Given the description of an element on the screen output the (x, y) to click on. 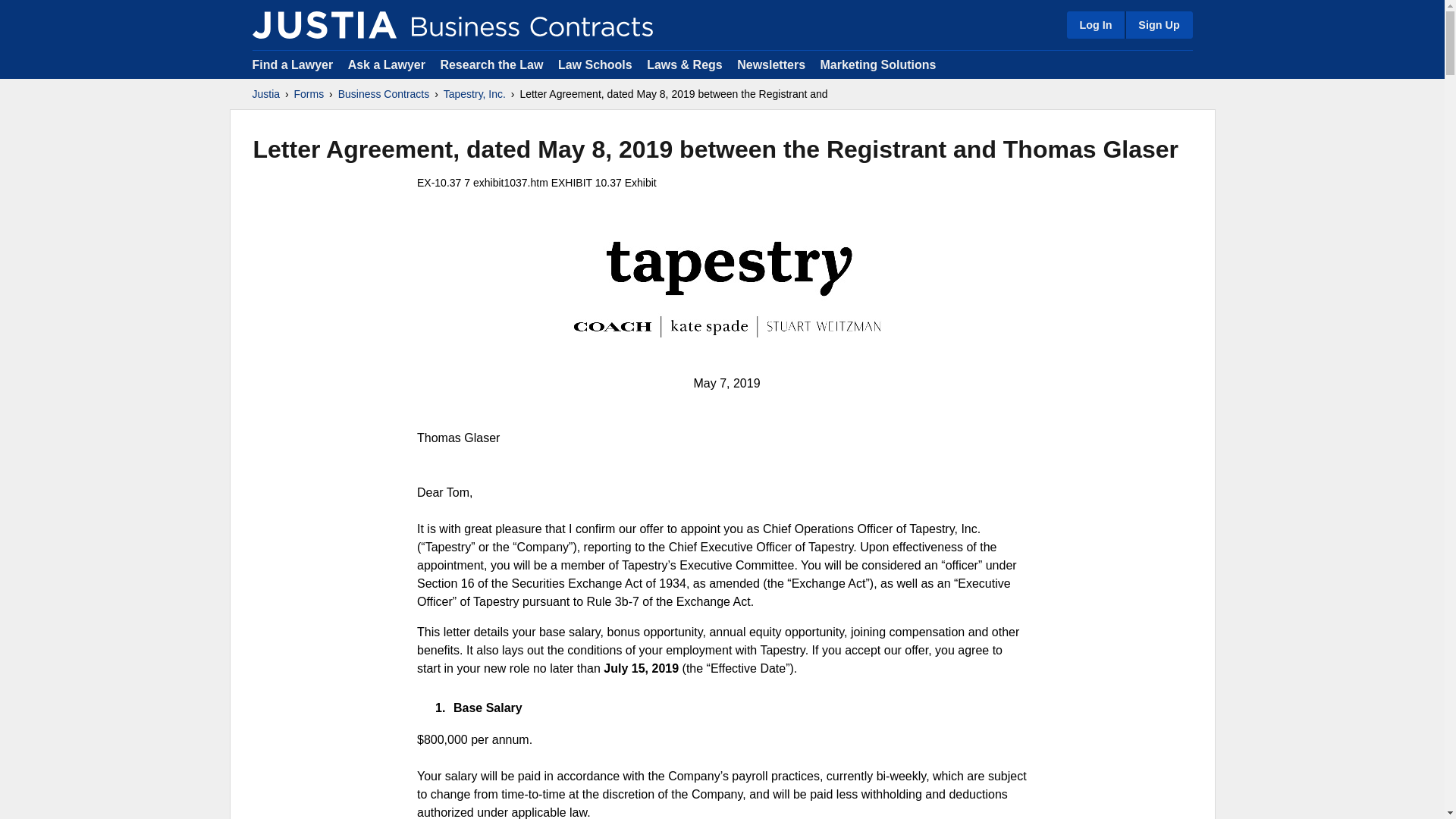
Ask a Lawyer (388, 64)
Forms (309, 93)
Business Contracts (383, 93)
Find a Lawyer (292, 64)
Sign Up (1158, 24)
Research the Law (491, 64)
Justia (323, 24)
Marketing Solutions (877, 64)
Tapestry, Inc. (474, 93)
Newsletters (770, 64)
Justia (265, 93)
Law Schools (594, 64)
Log In (1094, 24)
